Given the description of an element on the screen output the (x, y) to click on. 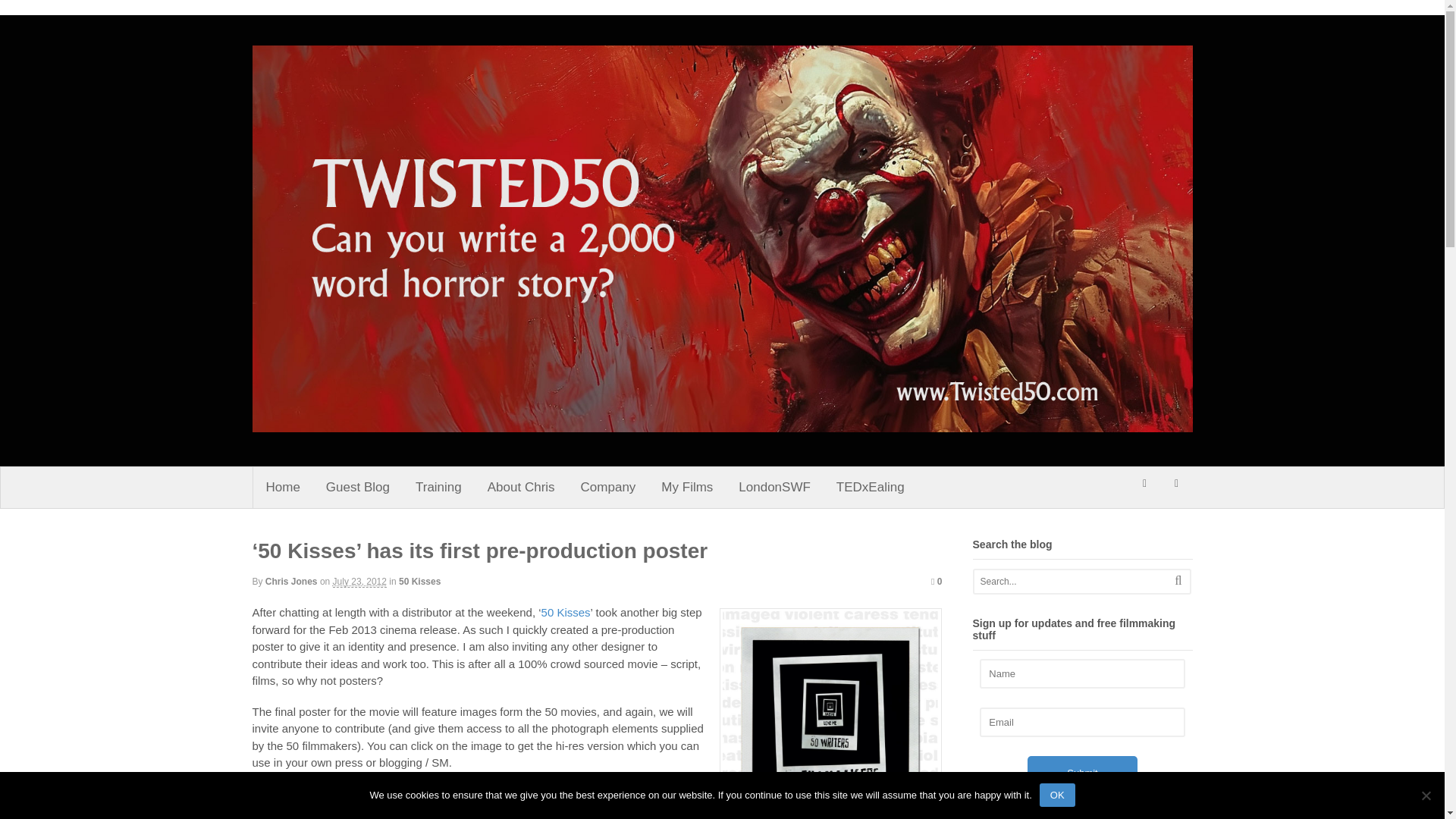
Chris Jones (290, 581)
Search... (1072, 581)
Submit (1082, 772)
About Chris (520, 486)
Get a Camera, Get Some Actors, Go Shoot a Movie... (721, 423)
TEDxEaling (870, 486)
Guest Blog (358, 486)
0 (936, 581)
Chris Jones Filmmaker Blog (440, 447)
Company (608, 486)
Posts by Chris Jones (290, 581)
Training (438, 486)
50 Kisses (419, 581)
50 kisses (830, 713)
Home (283, 486)
